Given the description of an element on the screen output the (x, y) to click on. 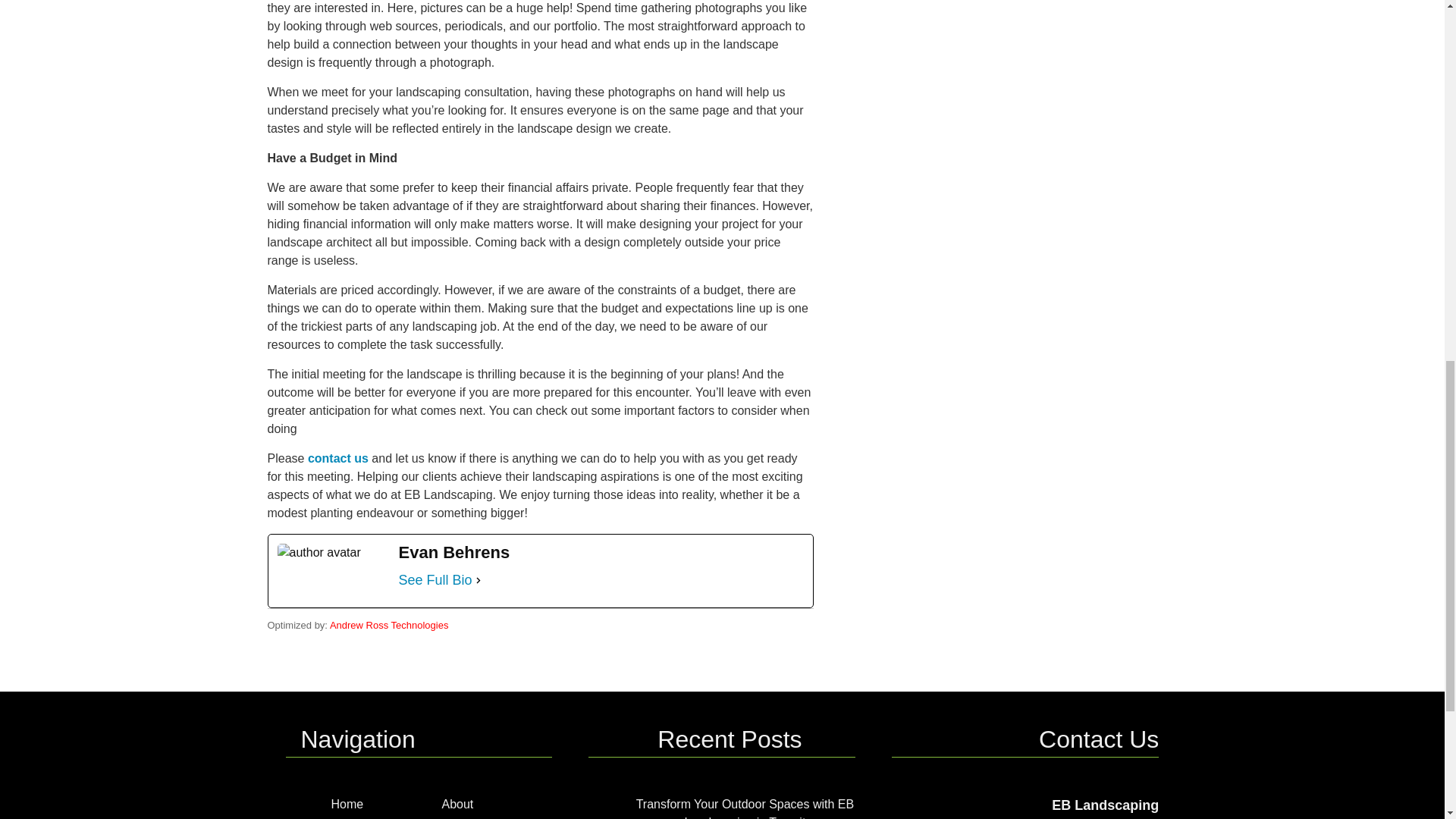
contact us (337, 458)
Transform Your Outdoor Spaces with EB Landscaping in Tarneit (745, 808)
See Full Bio (434, 579)
About (457, 803)
Andrew Ross Technologies (389, 624)
Home (346, 803)
